Given the description of an element on the screen output the (x, y) to click on. 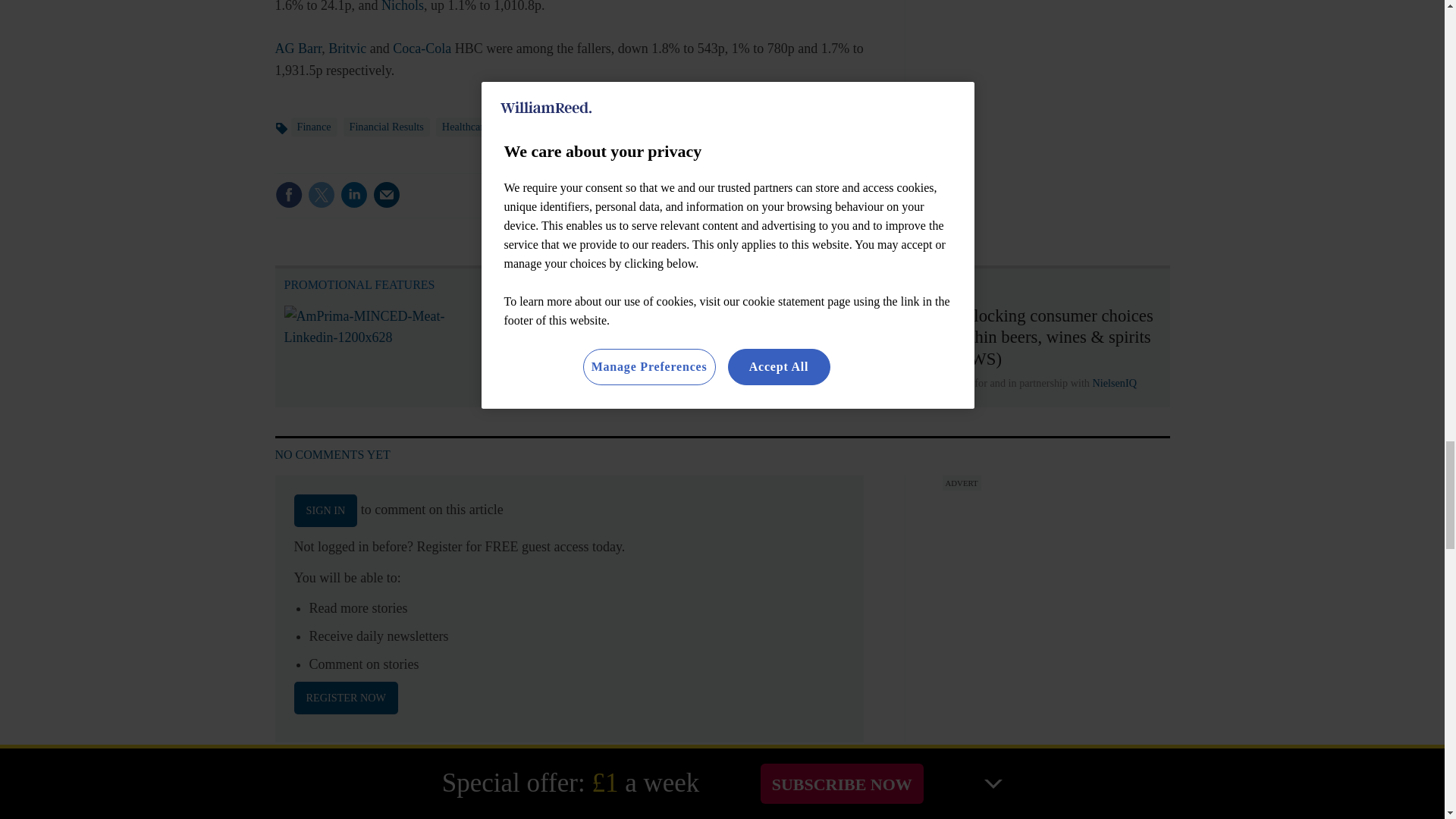
Share this on Linked in (352, 194)
Share this on Twitter (320, 194)
Share this on Facebook (288, 194)
No comments (812, 203)
Email this article (386, 194)
